Given the description of an element on the screen output the (x, y) to click on. 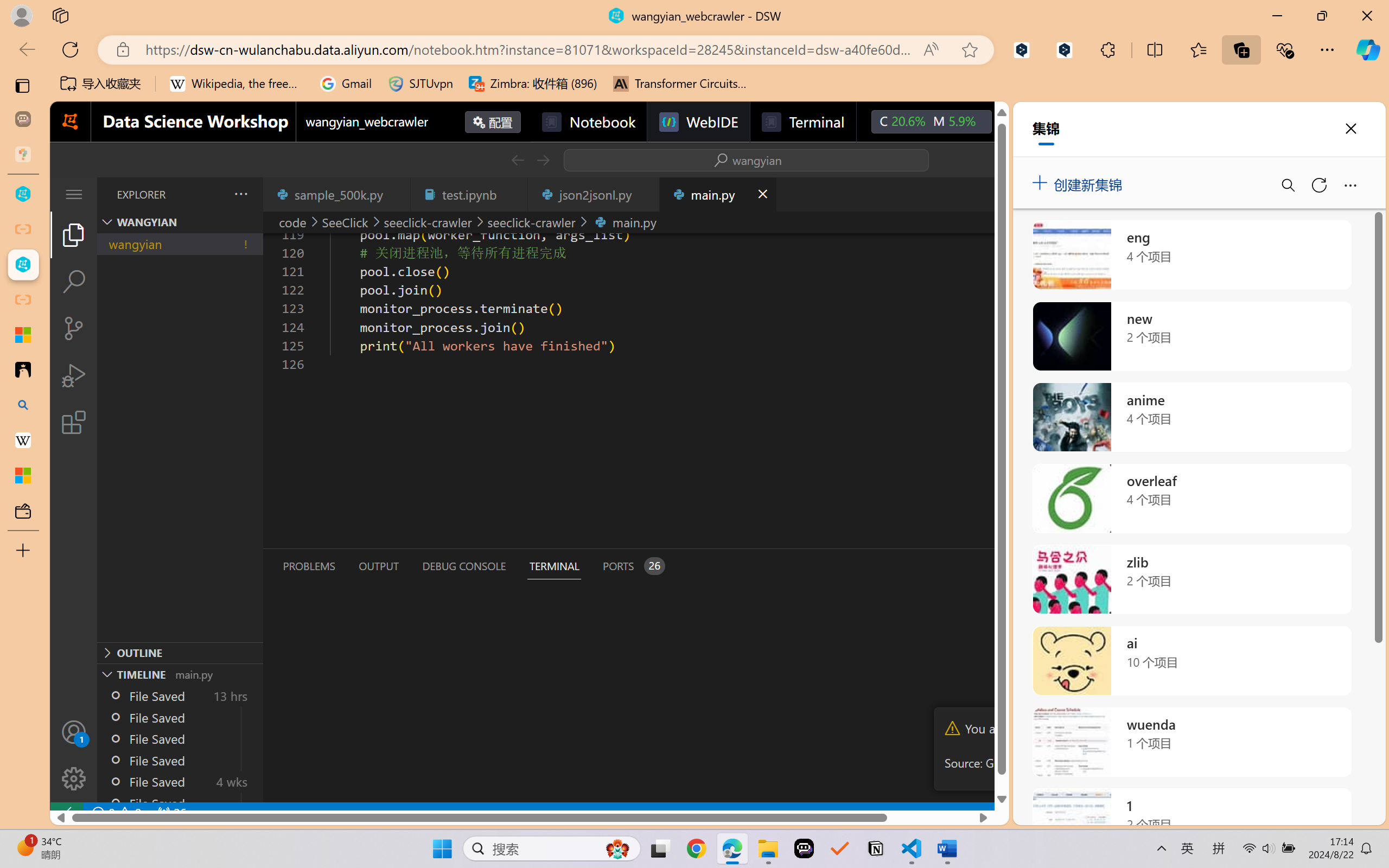
wangyian_dsw - DSW (22, 194)
Class: actions-container (716, 159)
WebIDE (698, 121)
Explorer (Ctrl+Shift+E) (73, 234)
Debug Console (Ctrl+Shift+Y) (463, 565)
main.py (717, 194)
Go Back (Alt+LeftArrow) (516, 159)
SJTUvpn (419, 83)
Gmail (345, 83)
